Given the description of an element on the screen output the (x, y) to click on. 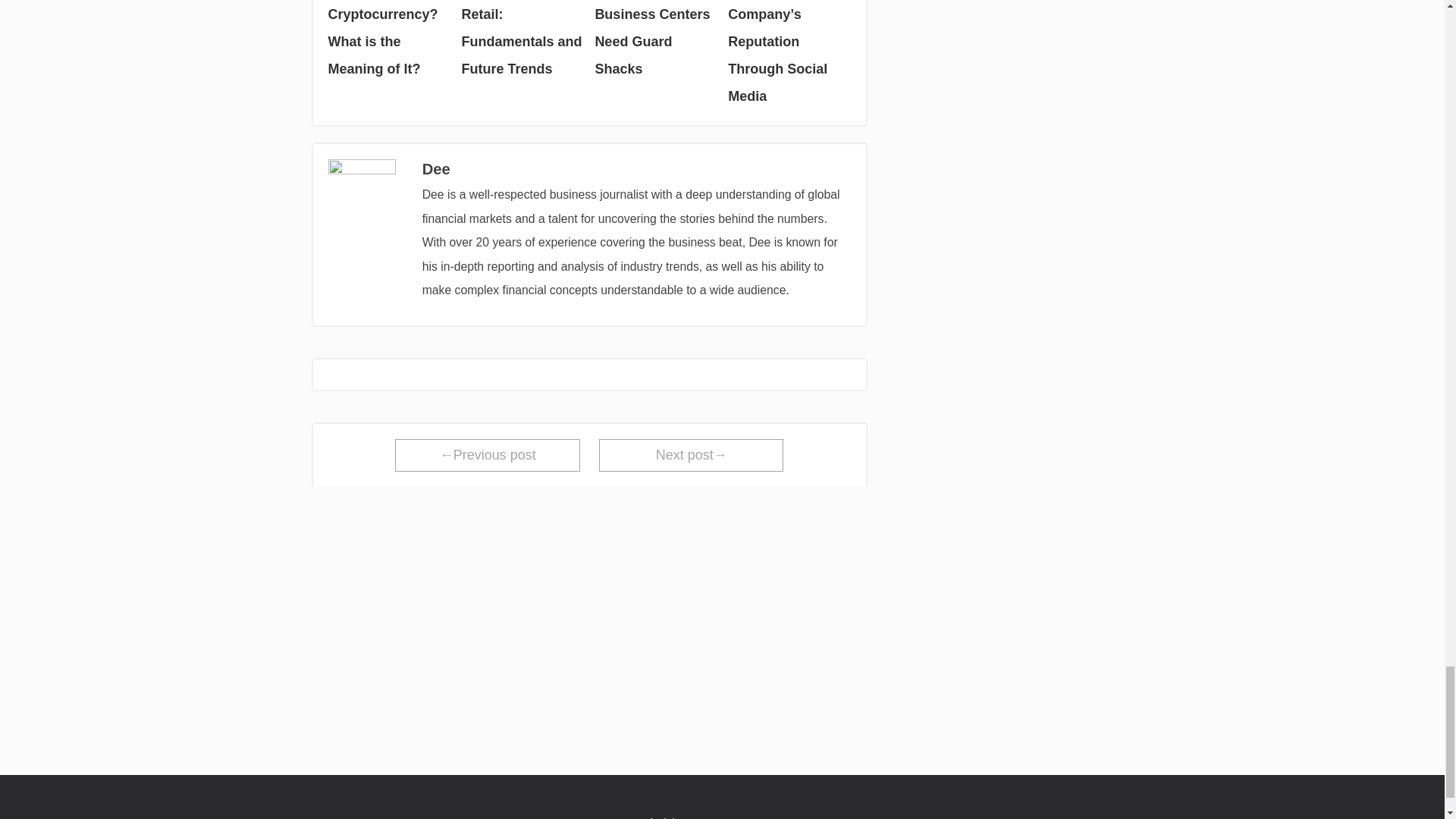
5 Reasons Why Business Centers Need Guard Shacks (655, 41)
Understanding Retail: Fundamentals and Future Trends (522, 41)
A Token in Cryptocurrency? What is the Meaning of It? (388, 41)
